Given the description of an element on the screen output the (x, y) to click on. 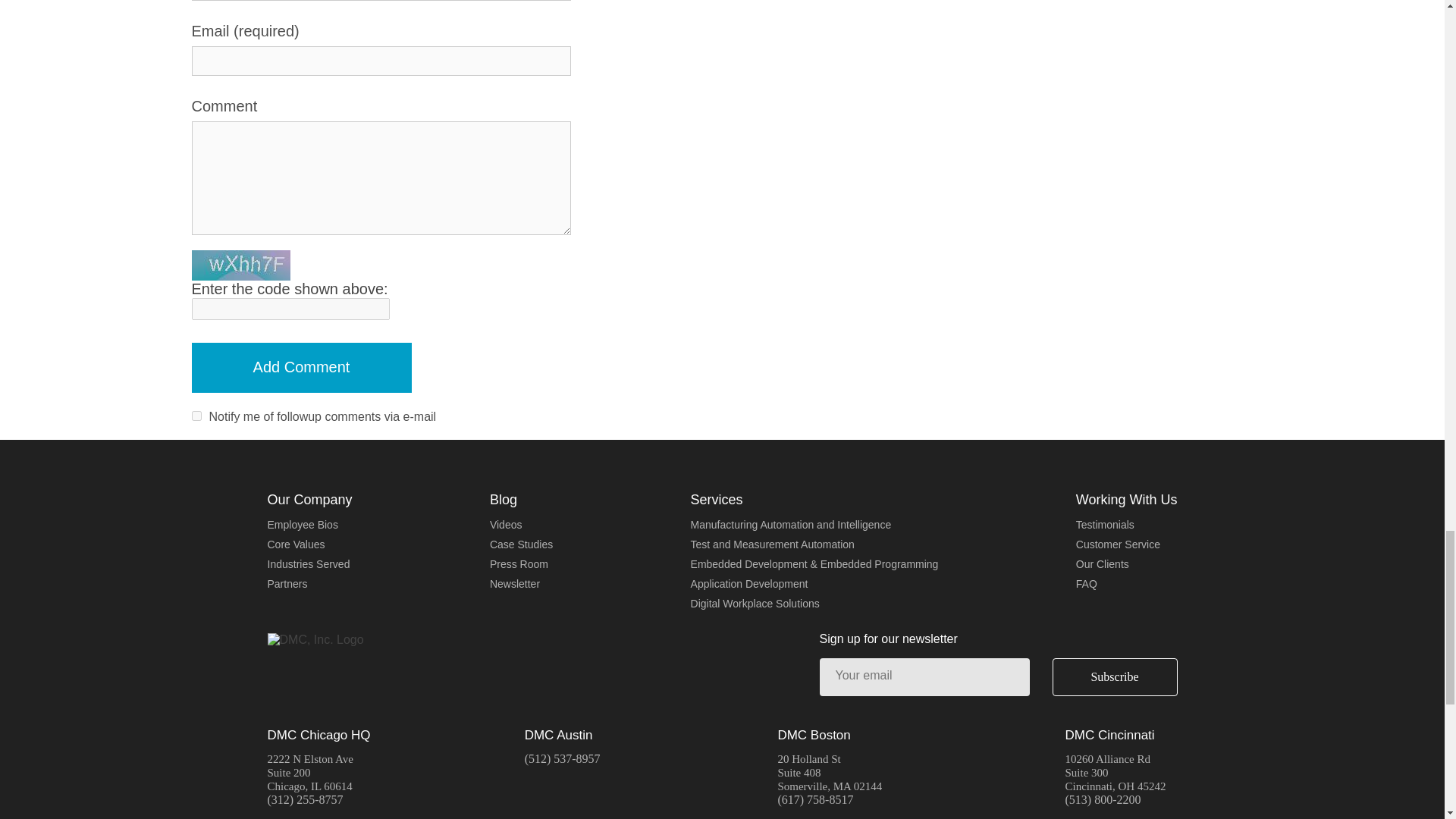
Add Comment (300, 368)
on (195, 415)
Subscribe (1114, 677)
